Given the description of an element on the screen output the (x, y) to click on. 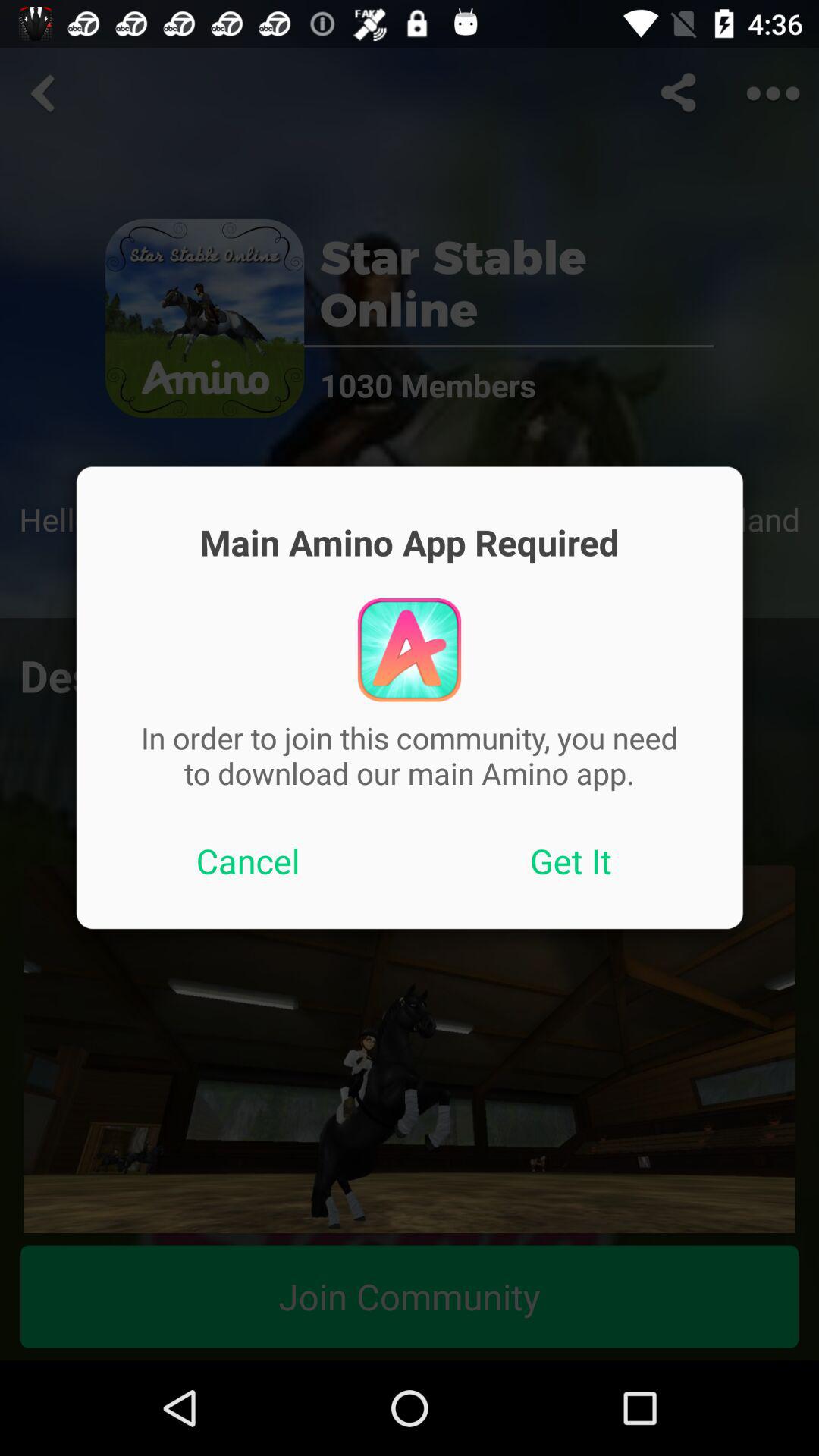
select icon next to get it (247, 860)
